Given the description of an element on the screen output the (x, y) to click on. 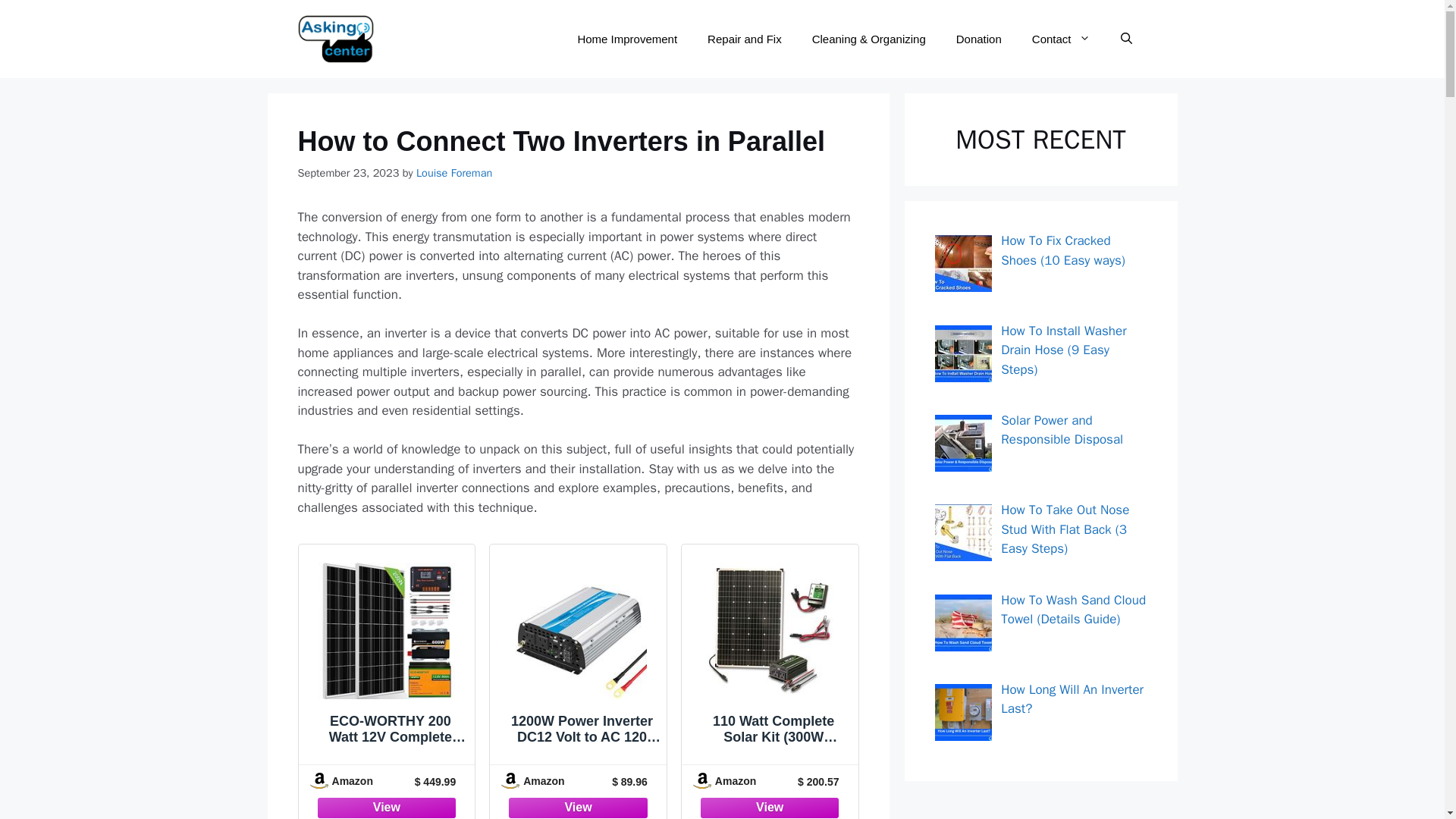
Repair and Fix (744, 39)
View all posts by Louise Foreman (454, 172)
Louise Foreman (454, 172)
Home Improvement (627, 39)
Contact (1060, 39)
Donation (978, 39)
